Given the description of an element on the screen output the (x, y) to click on. 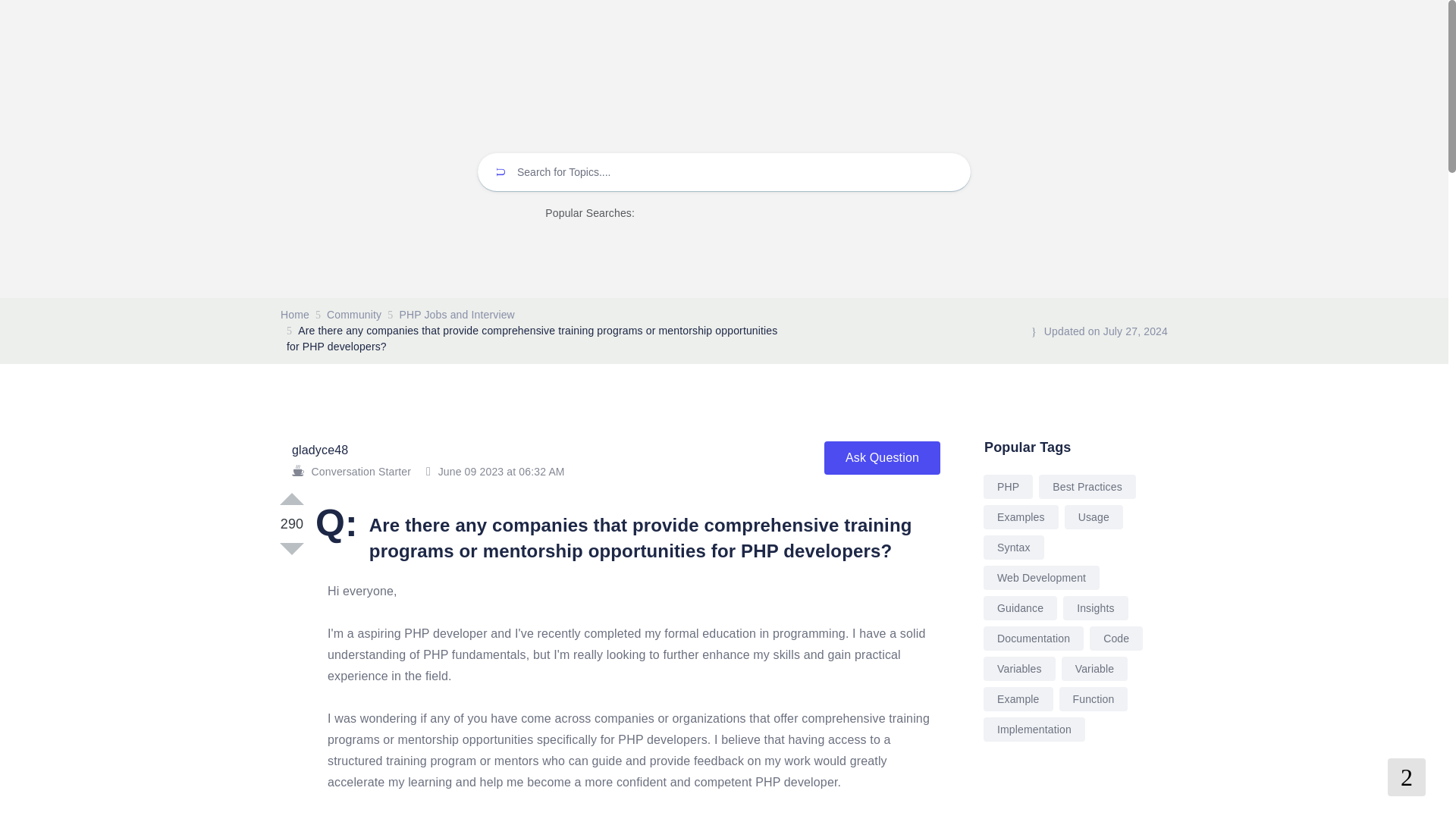
Advertisement (1073, 798)
Insights (1094, 607)
Documentation (1033, 638)
Variables (1019, 668)
Function (1093, 699)
PHP (1008, 486)
Examples (1021, 517)
Web Development (1041, 577)
Best Practices (1087, 486)
gladyce48 (319, 449)
Implementation (1034, 729)
Variable (1094, 668)
Back to Top (1406, 777)
PHP Jobs and Interview (455, 314)
Ask Question (882, 458)
